Given the description of an element on the screen output the (x, y) to click on. 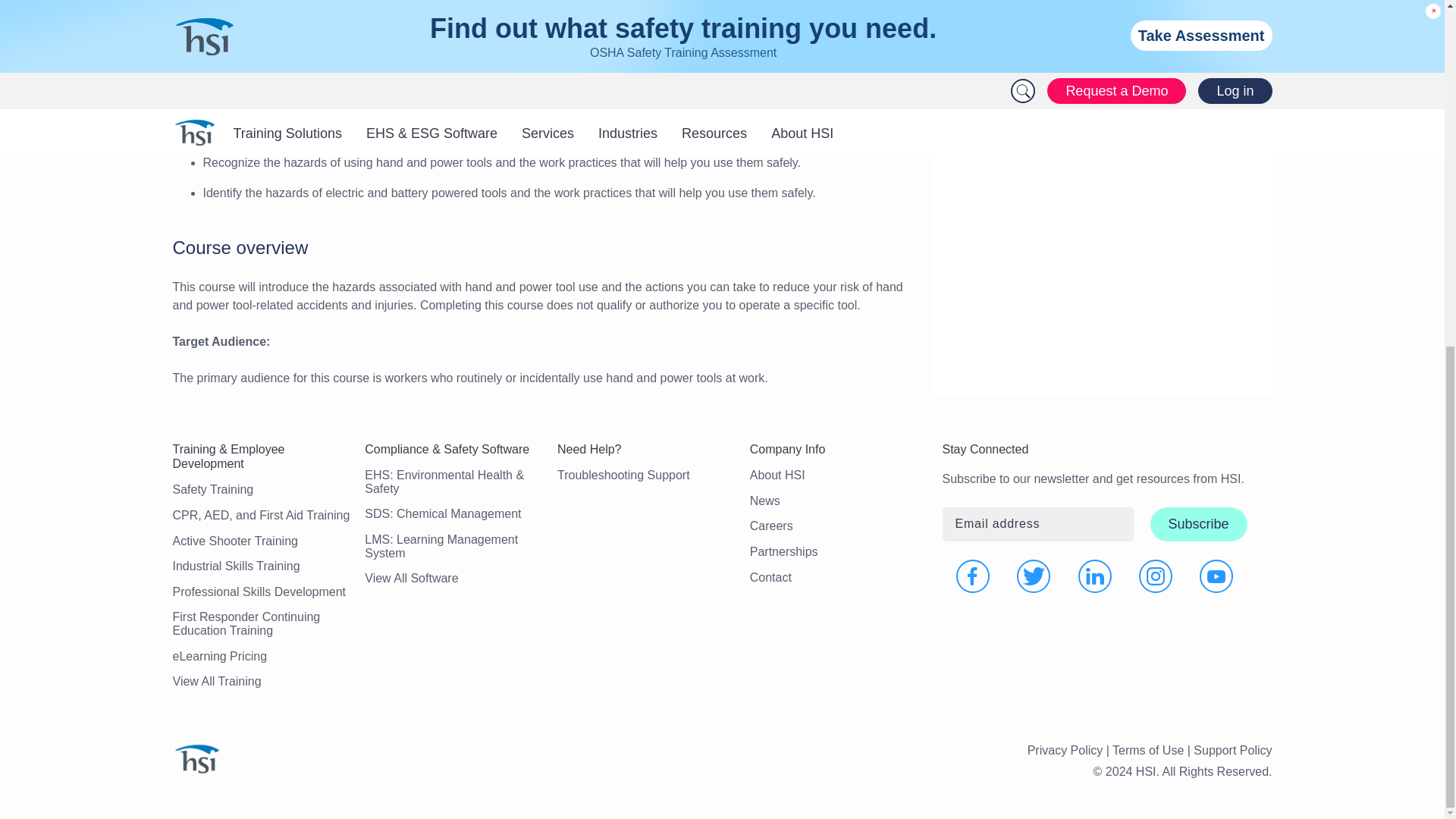
Subscribe (1198, 523)
Opens in a new window (973, 575)
Opens in a new window (1216, 575)
Opens in a new window (1032, 575)
Opens in a new window (1155, 575)
Opens in a new window (1095, 575)
